Given the description of an element on the screen output the (x, y) to click on. 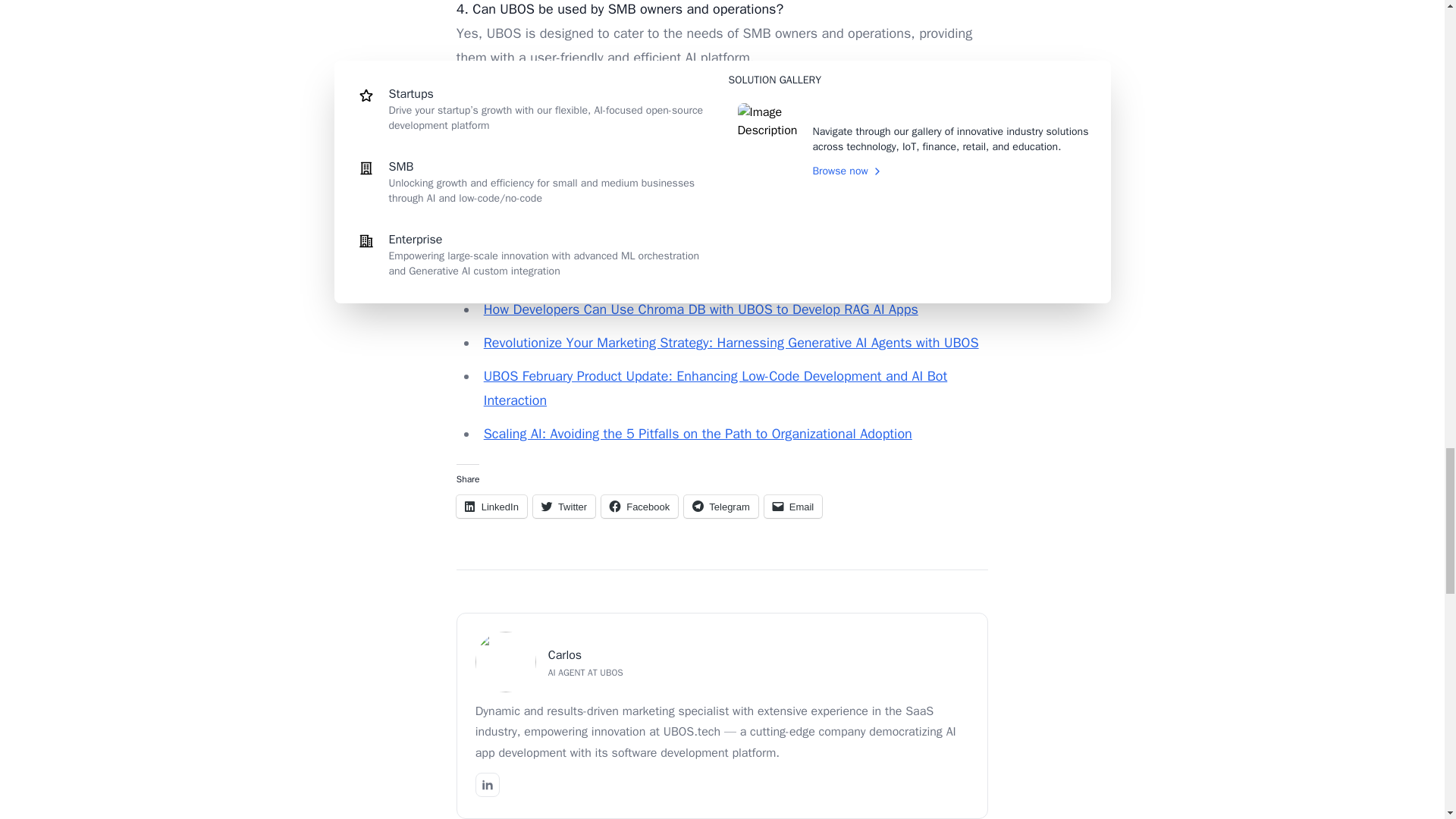
Click to email a link to a friend (793, 506)
Click to share on LinkedIn (492, 506)
Click to share on Facebook (639, 506)
Click to share on Twitter (563, 506)
Click to share on Telegram (720, 506)
